Given the description of an element on the screen output the (x, y) to click on. 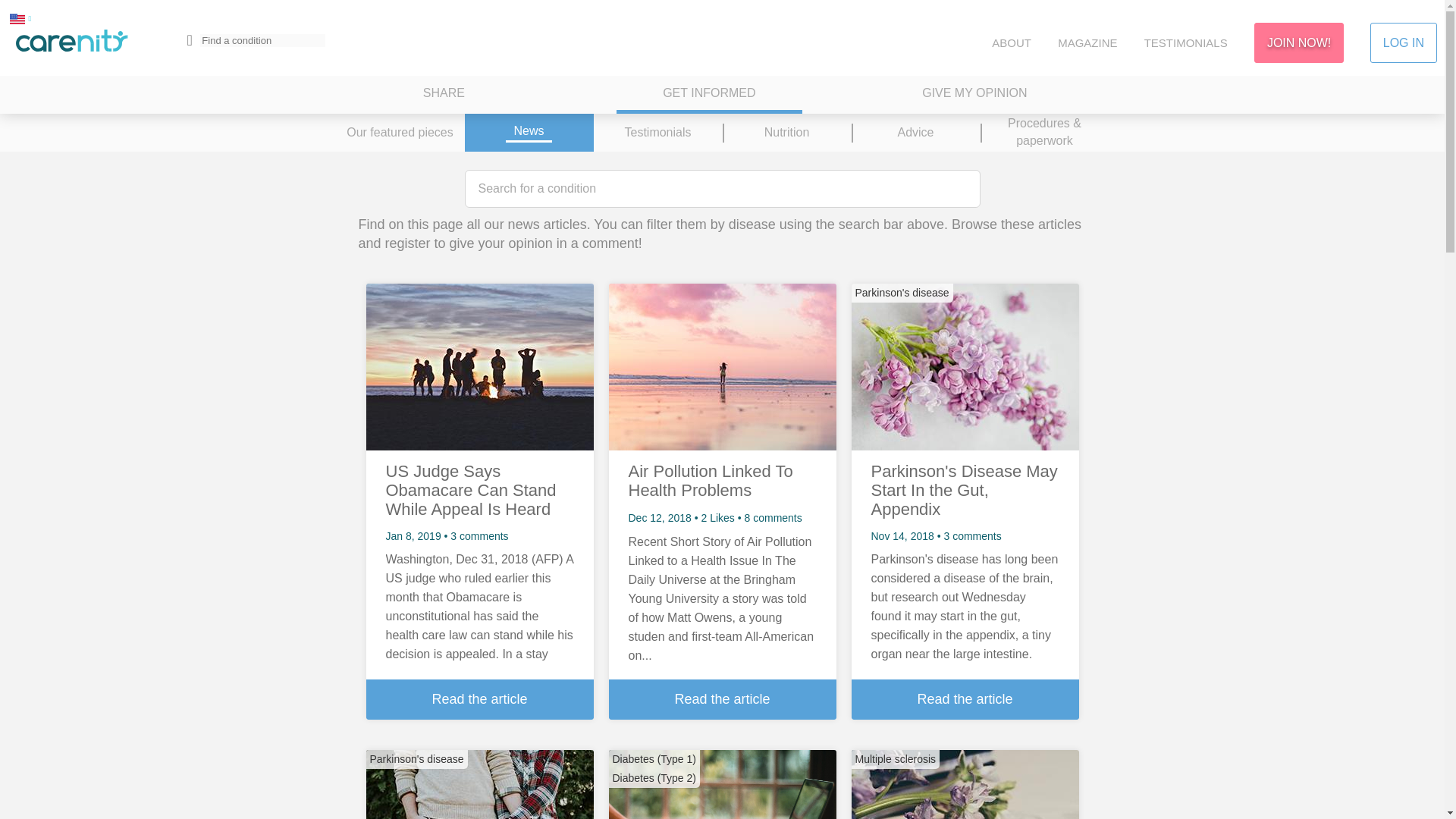
News (528, 132)
USA (17, 18)
TESTIMONIALS (1185, 42)
MAGAZINE (1087, 42)
Advice (914, 132)
GIVE MY OPINION (974, 94)
GET INFORMED (708, 94)
LOG IN (1403, 42)
SHARE (443, 94)
Nutrition (786, 132)
Testimonials (657, 132)
ABOUT (1010, 42)
Our featured pieces (399, 132)
